Given the description of an element on the screen output the (x, y) to click on. 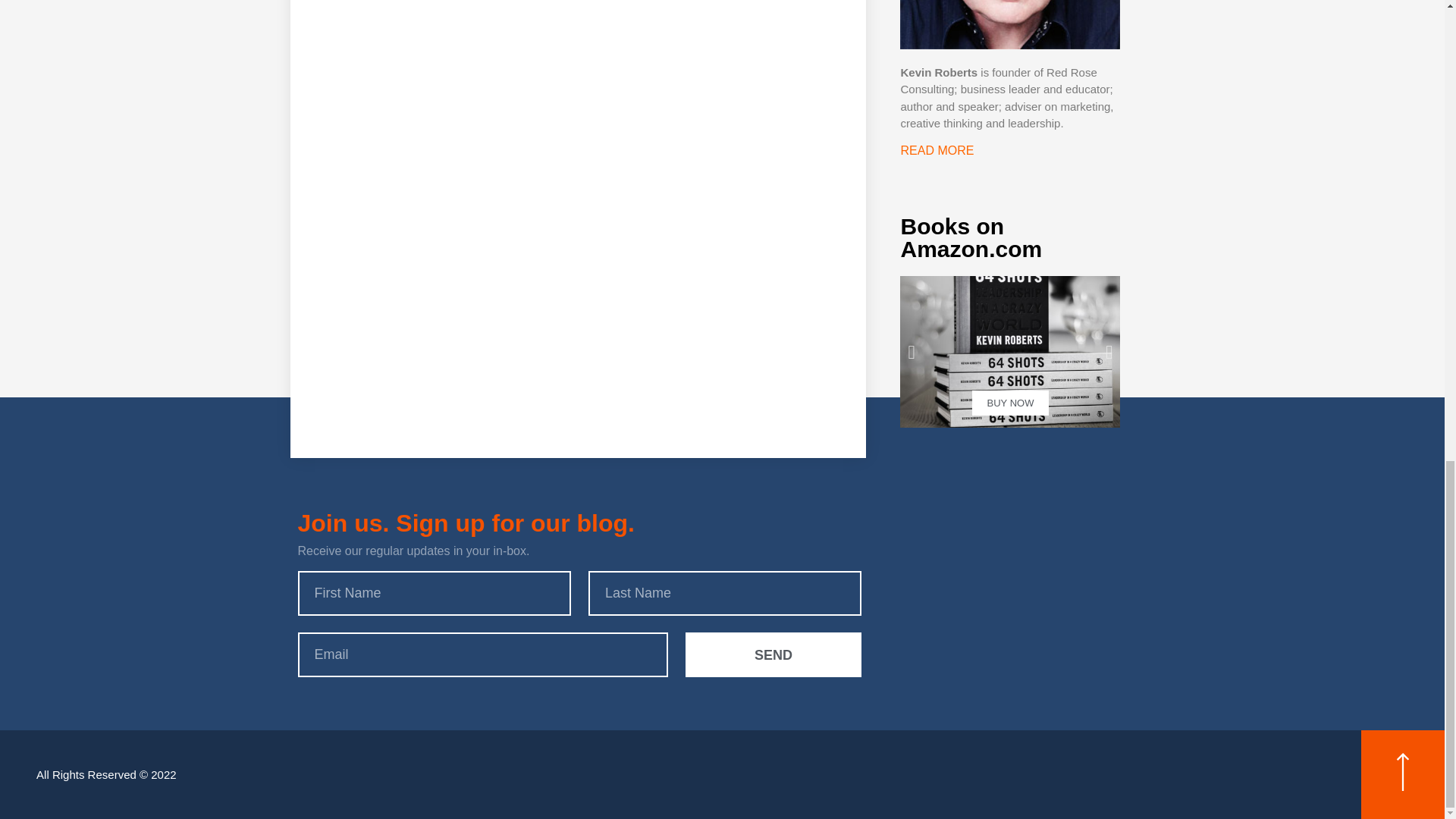
BUY NOW (1009, 351)
READ MORE (936, 150)
